Given the description of an element on the screen output the (x, y) to click on. 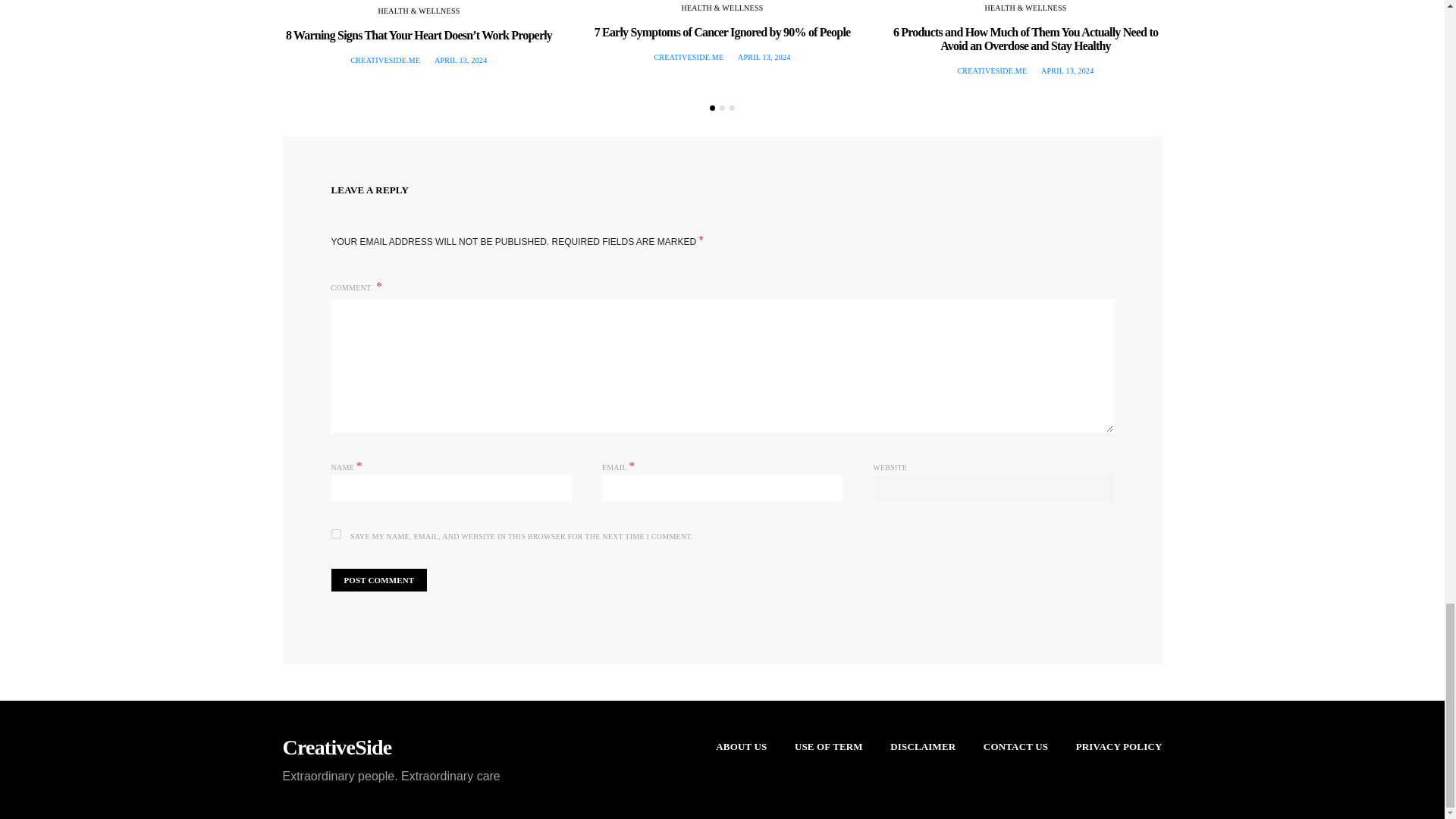
yes (335, 533)
View all posts by creativeside.me (385, 60)
View all posts by creativeside.me (991, 70)
Post Comment (378, 580)
View all posts by creativeside.me (688, 57)
